Given the description of an element on the screen output the (x, y) to click on. 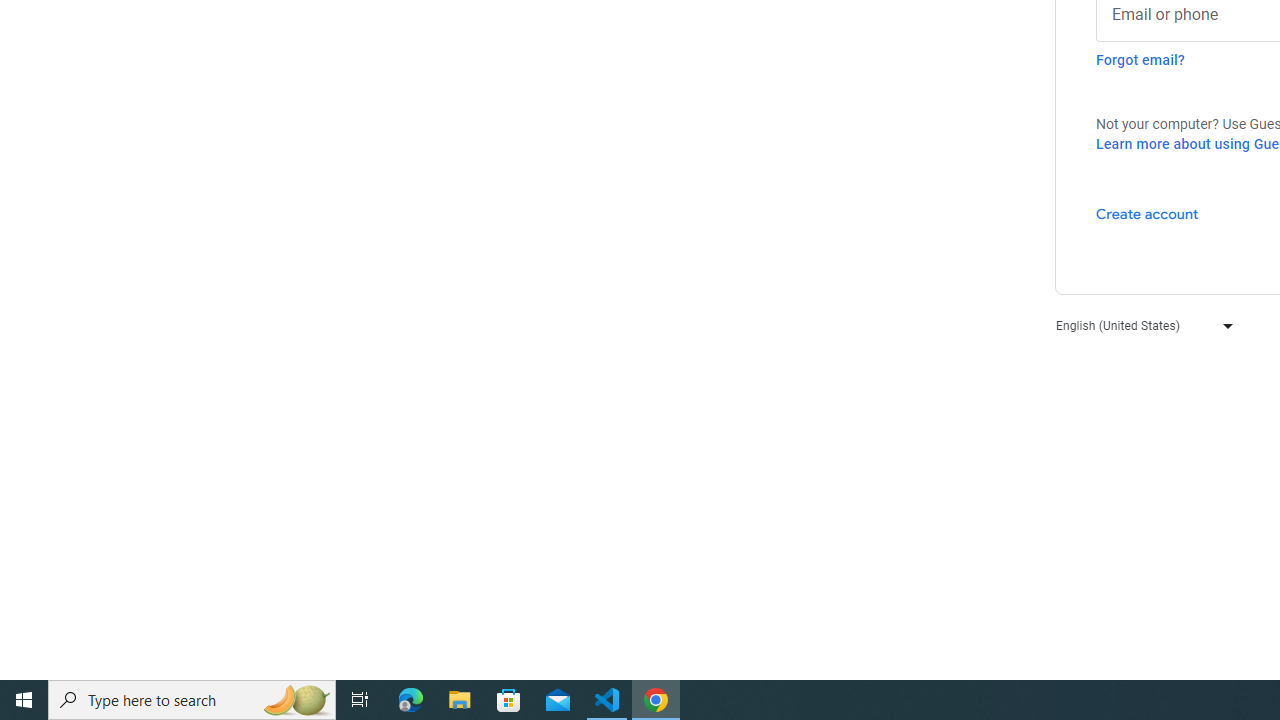
Create account (1146, 213)
Forgot email? (1140, 59)
English (United States) (1139, 324)
